Given the description of an element on the screen output the (x, y) to click on. 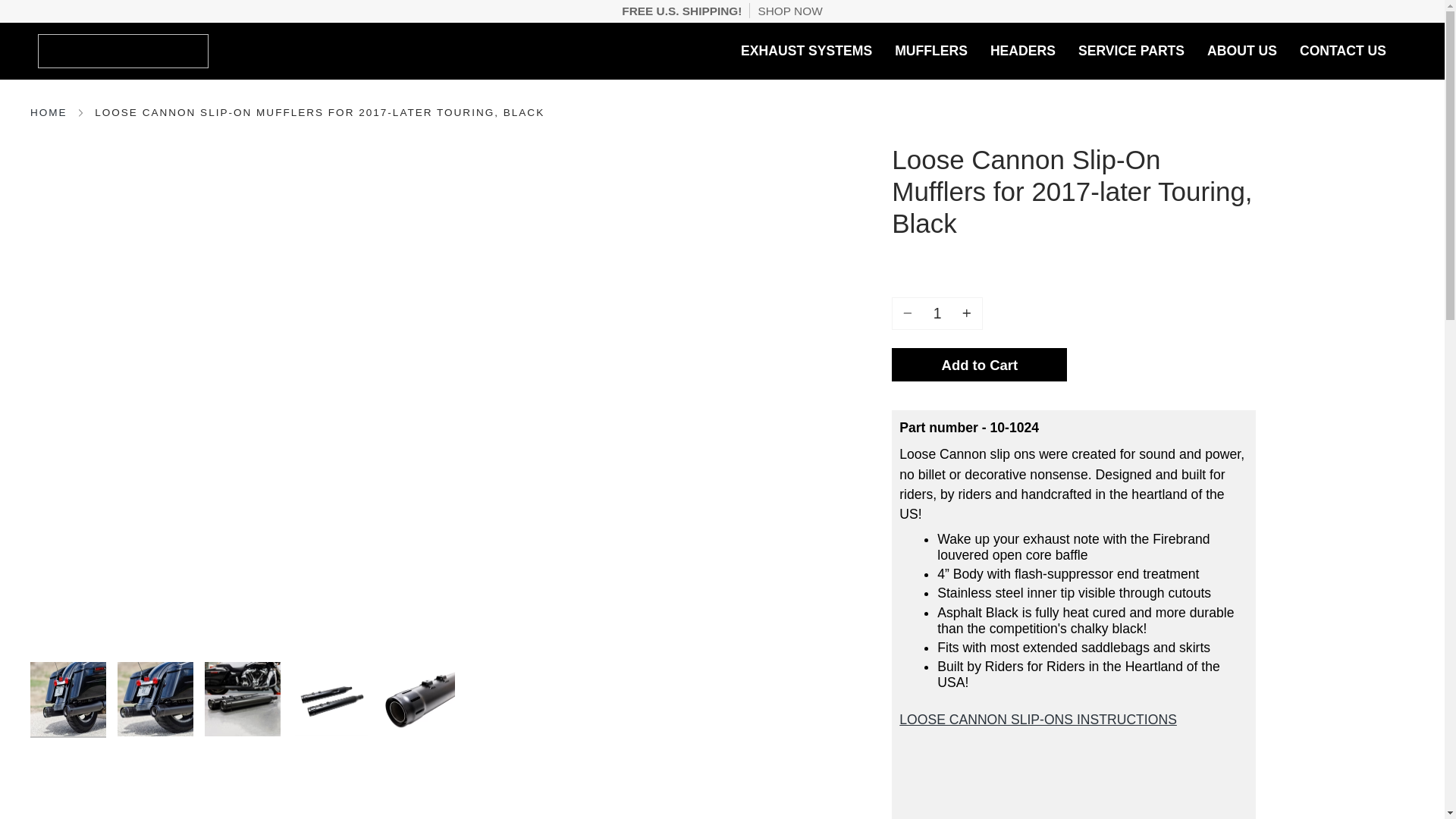
1 (936, 313)
MUFFLERS (930, 50)
EXHAUST SYSTEMS (806, 50)
ABOUT US (1241, 50)
FREE U.S. SHIPPING!SHOP NOW (721, 10)
HEADERS (1022, 50)
CONTACT US (1342, 50)
LOOSE CANNON SLIP-ONS INSTRUCTIONS (1037, 719)
SERVICE PARTS (1131, 50)
